Given the description of an element on the screen output the (x, y) to click on. 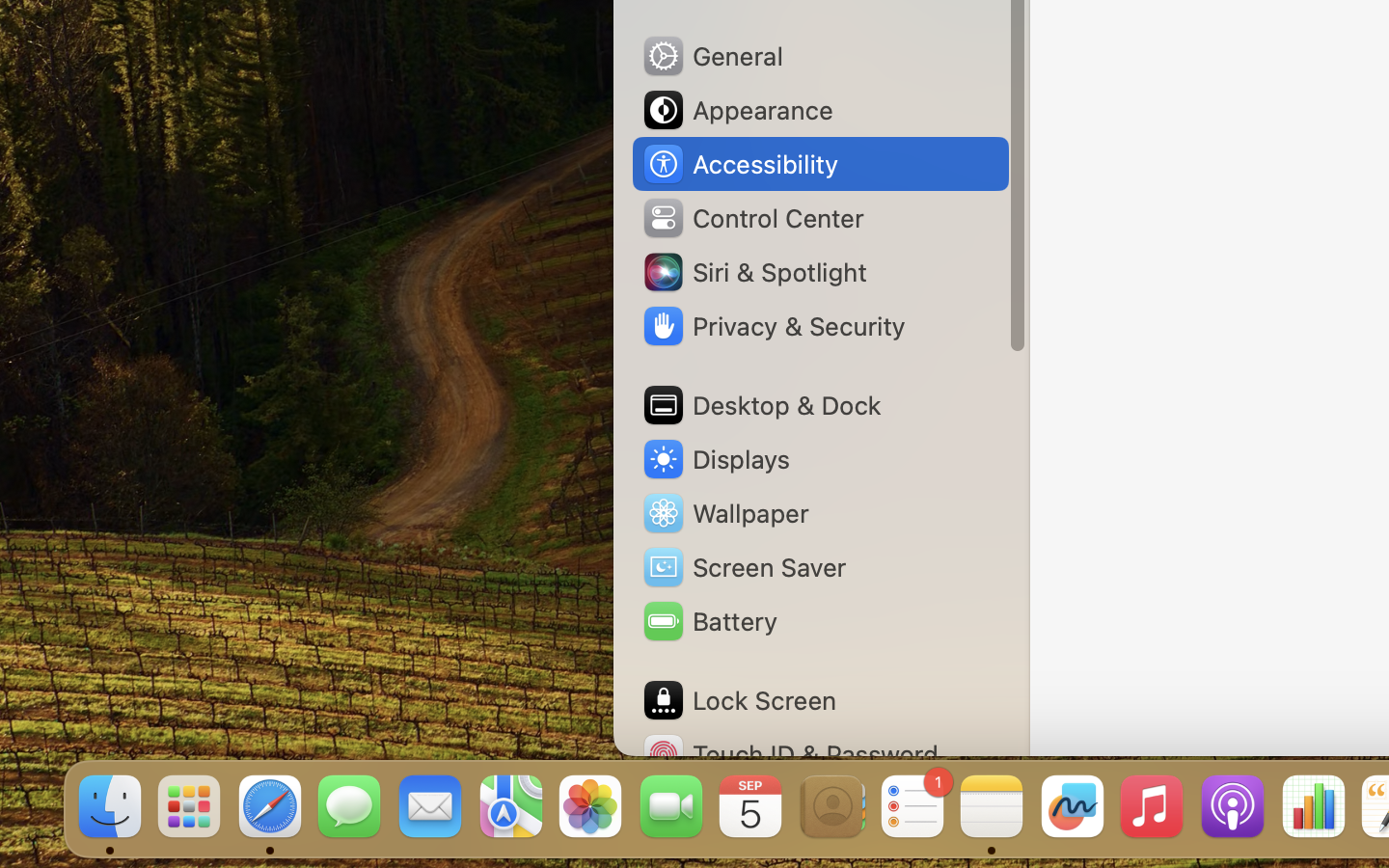
Lock Screen Element type: AXStaticText (738, 700)
Screen Saver Element type: AXStaticText (743, 566)
Siri & Spotlight Element type: AXStaticText (753, 271)
Appearance Element type: AXStaticText (736, 109)
Touch ID & Password Element type: AXStaticText (789, 754)
